Given the description of an element on the screen output the (x, y) to click on. 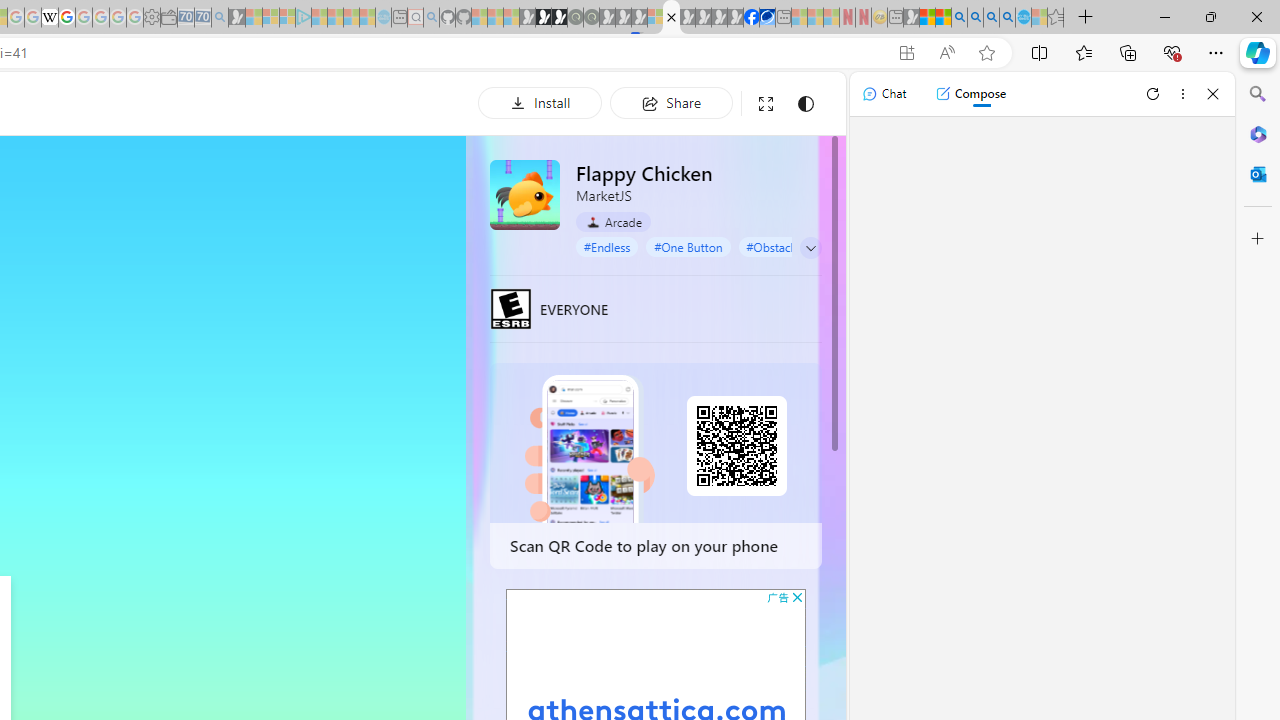
AutomationID: cbb (797, 596)
github - Search - Sleeping (431, 17)
Install (540, 102)
#One Button (688, 246)
App available. Install Flappy Chicken (906, 53)
